Given the description of an element on the screen output the (x, y) to click on. 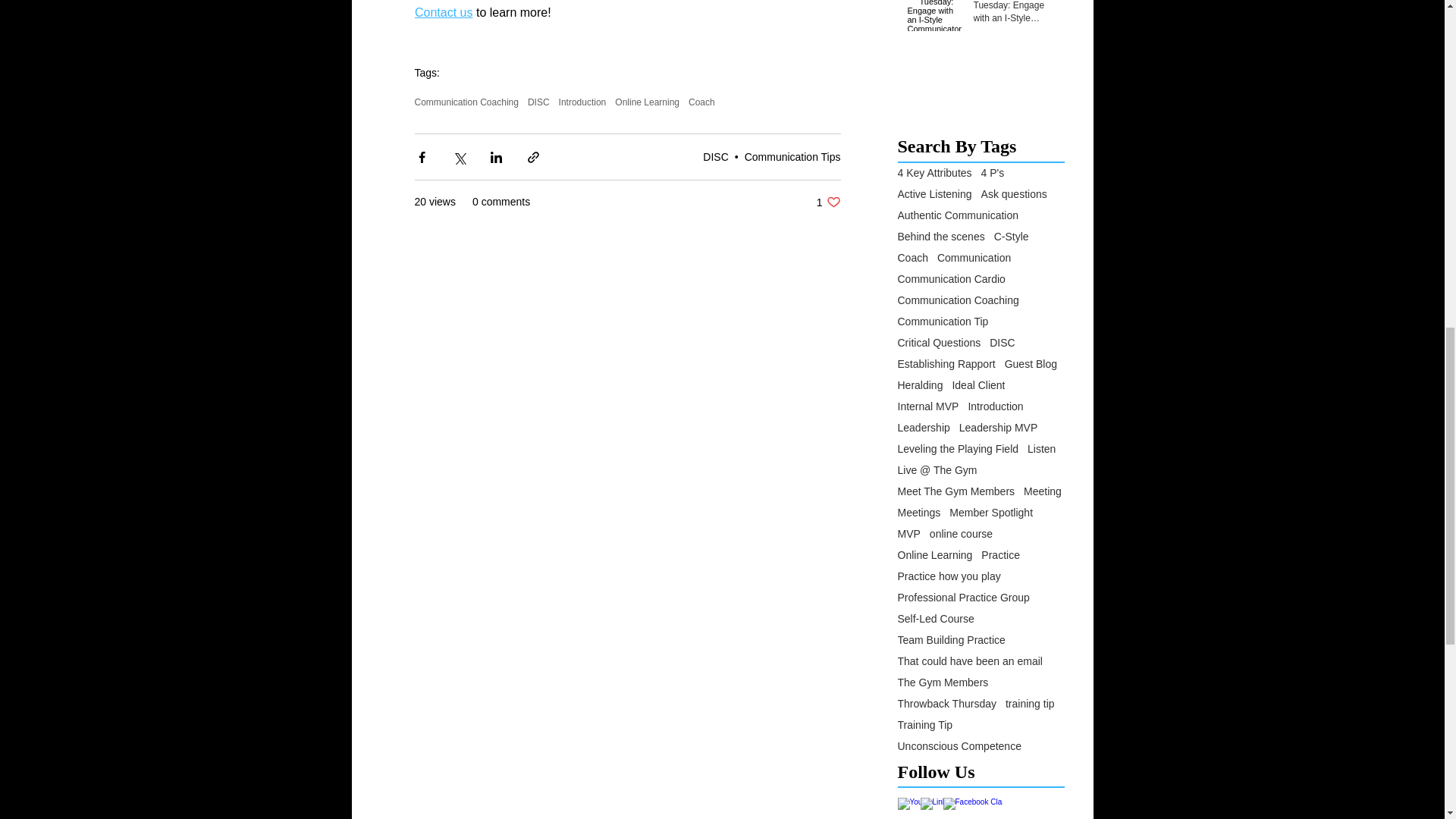
Communication Coaching (465, 102)
Introduction (828, 201)
Coach (583, 102)
DISC (701, 102)
Communication Tips (538, 102)
Online Learning (792, 156)
Contact us (646, 102)
DISC (442, 11)
